Given the description of an element on the screen output the (x, y) to click on. 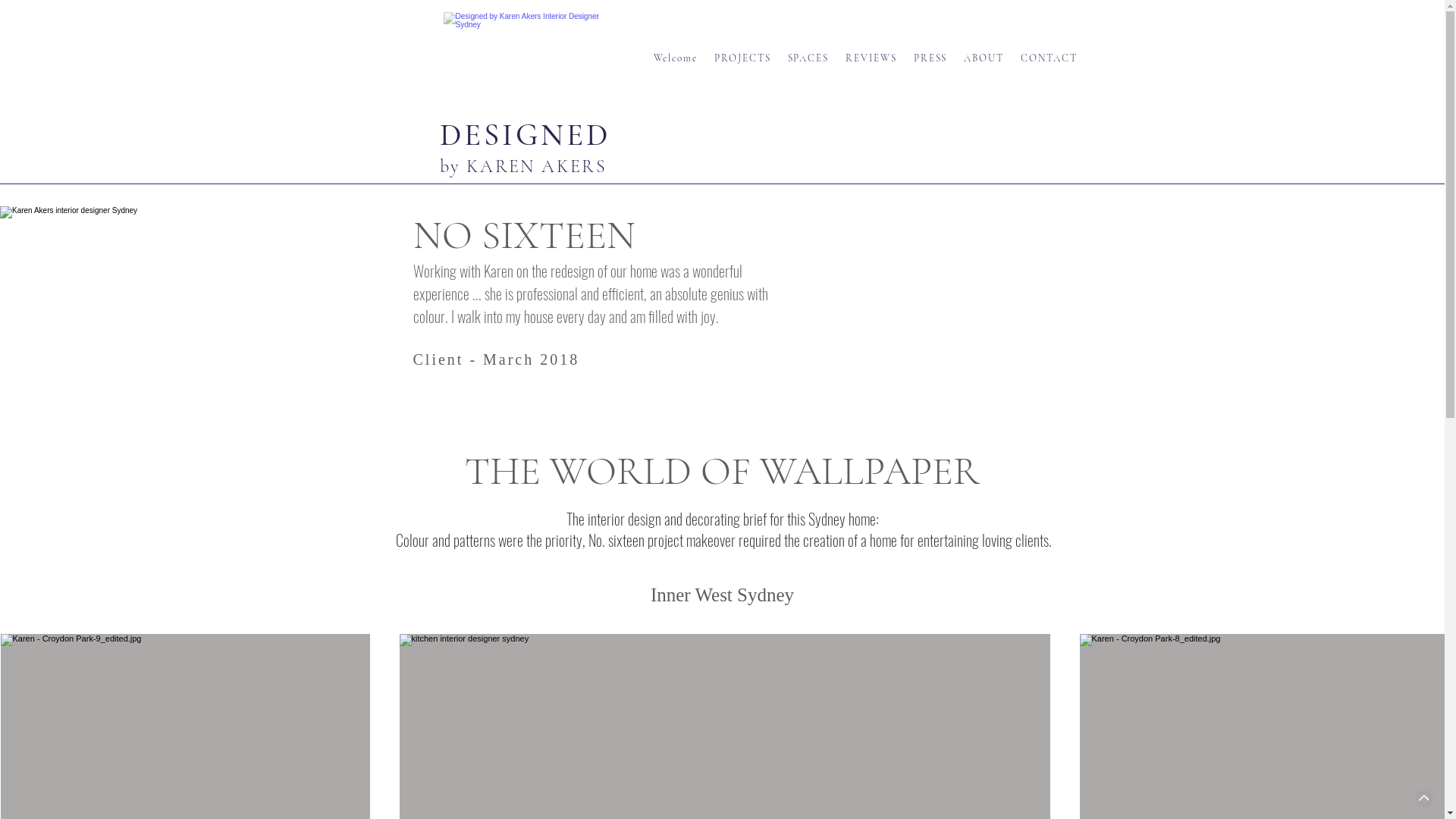
REVIEWS Element type: text (871, 58)
PROJECTS Element type: text (743, 58)
Welcome Element type: text (676, 58)
CONTACT Element type: text (1049, 58)
ABOUT Element type: text (984, 58)
PRESS Element type: text (931, 58)
SPACES Element type: text (809, 58)
